Given the description of an element on the screen output the (x, y) to click on. 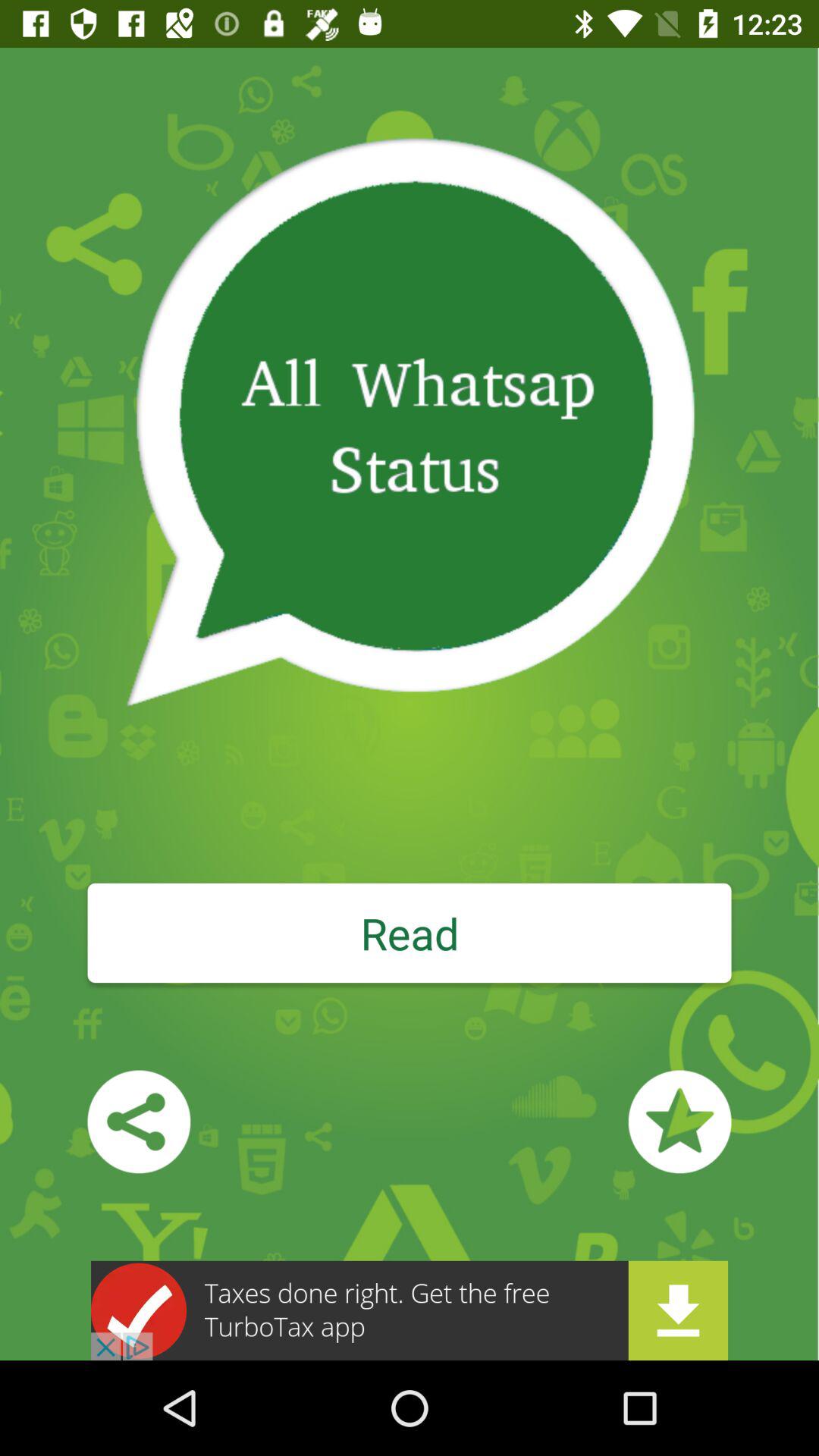
share (138, 1121)
